Given the description of an element on the screen output the (x, y) to click on. 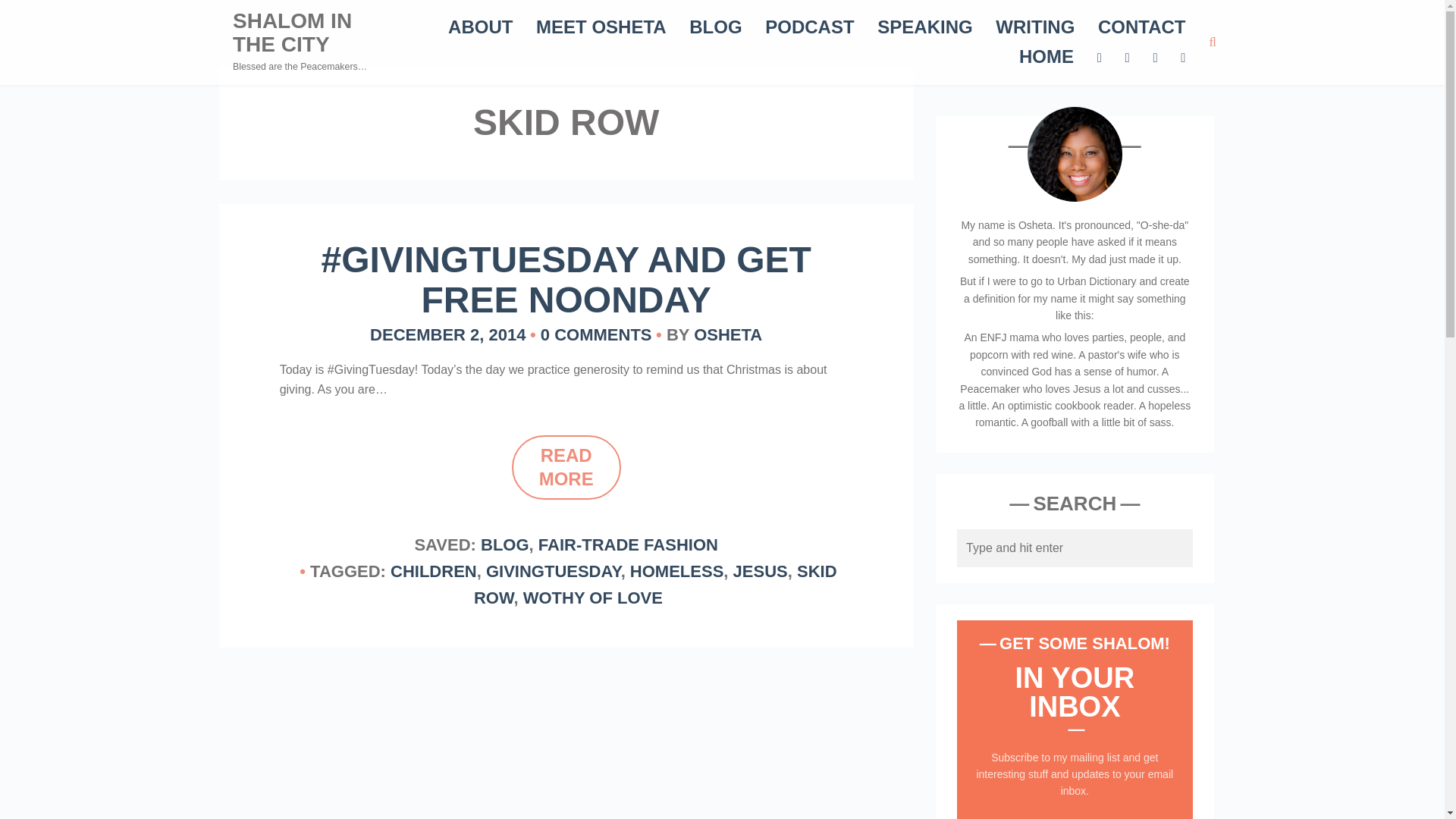
ABOUT (480, 26)
CHILDREN (433, 570)
BLOG (504, 544)
MEET OSHETA (600, 26)
CONTACT (1141, 26)
BLOG (714, 26)
SHALOM IN THE CITY (292, 32)
DECEMBER 2, 2014 (447, 334)
HOME (1046, 55)
FAIR-TRADE FASHION (627, 544)
SKID ROW (655, 584)
GIVINGTUESDAY (553, 570)
Posts by osheta (727, 334)
WOTHY OF LOVE (592, 597)
WRITING (1034, 26)
